Given the description of an element on the screen output the (x, y) to click on. 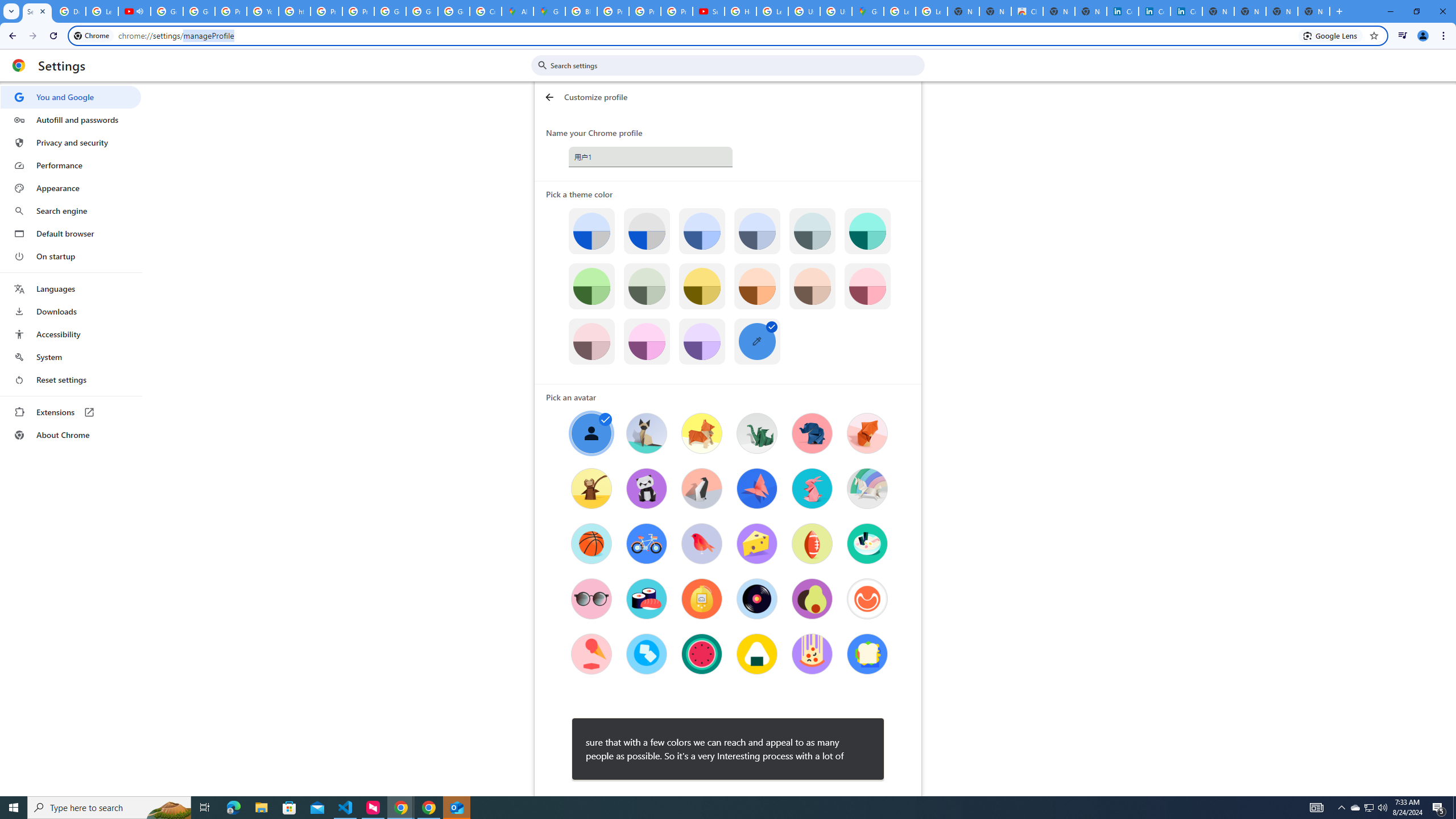
Accessibility (70, 333)
On startup (70, 255)
Blogger Policies and Guidelines - Transparency Center (581, 11)
Languages (70, 288)
Reset settings (70, 379)
You and Google (70, 96)
